Given the description of an element on the screen output the (x, y) to click on. 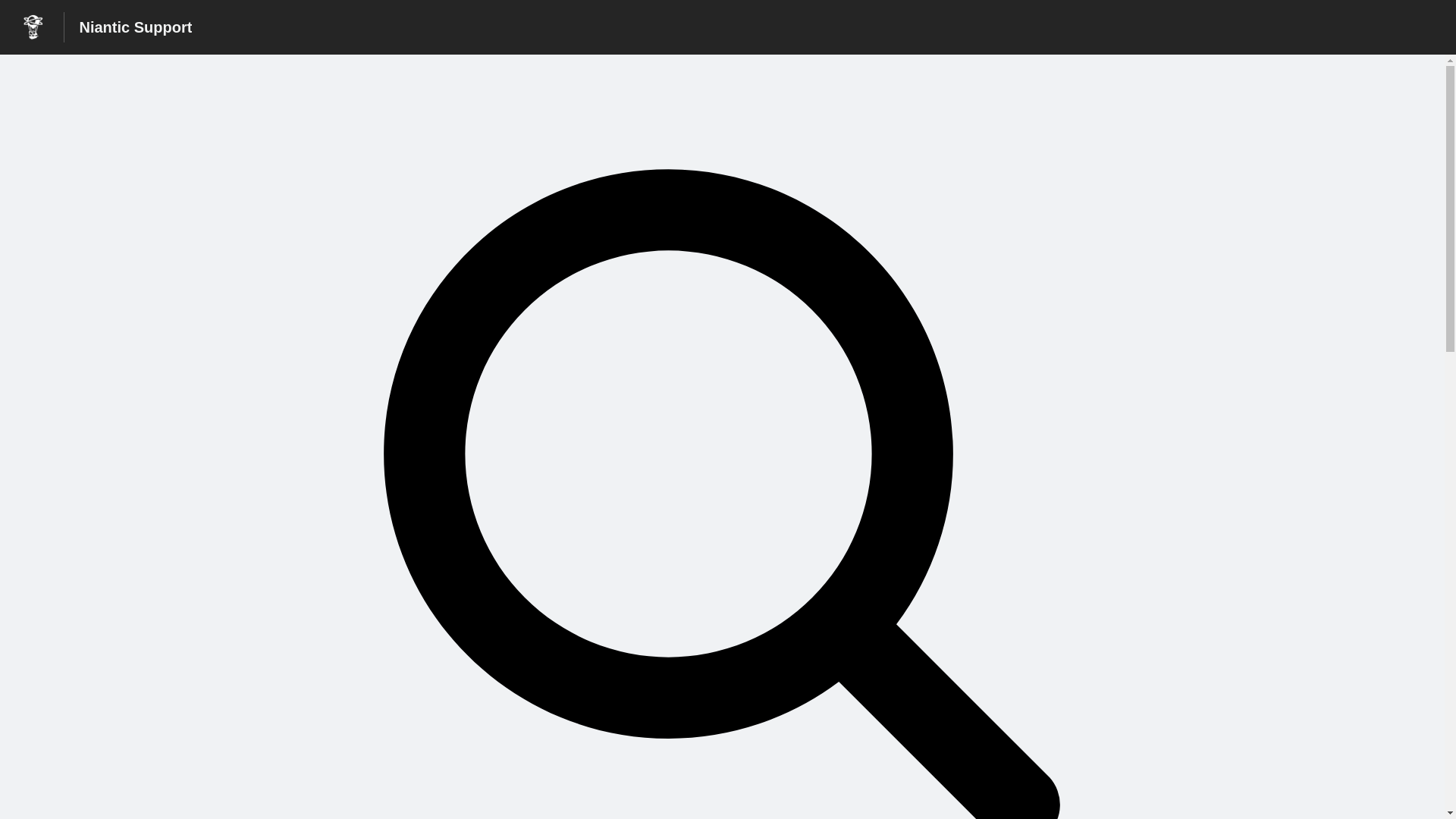
Niantic Support (135, 27)
